Given the description of an element on the screen output the (x, y) to click on. 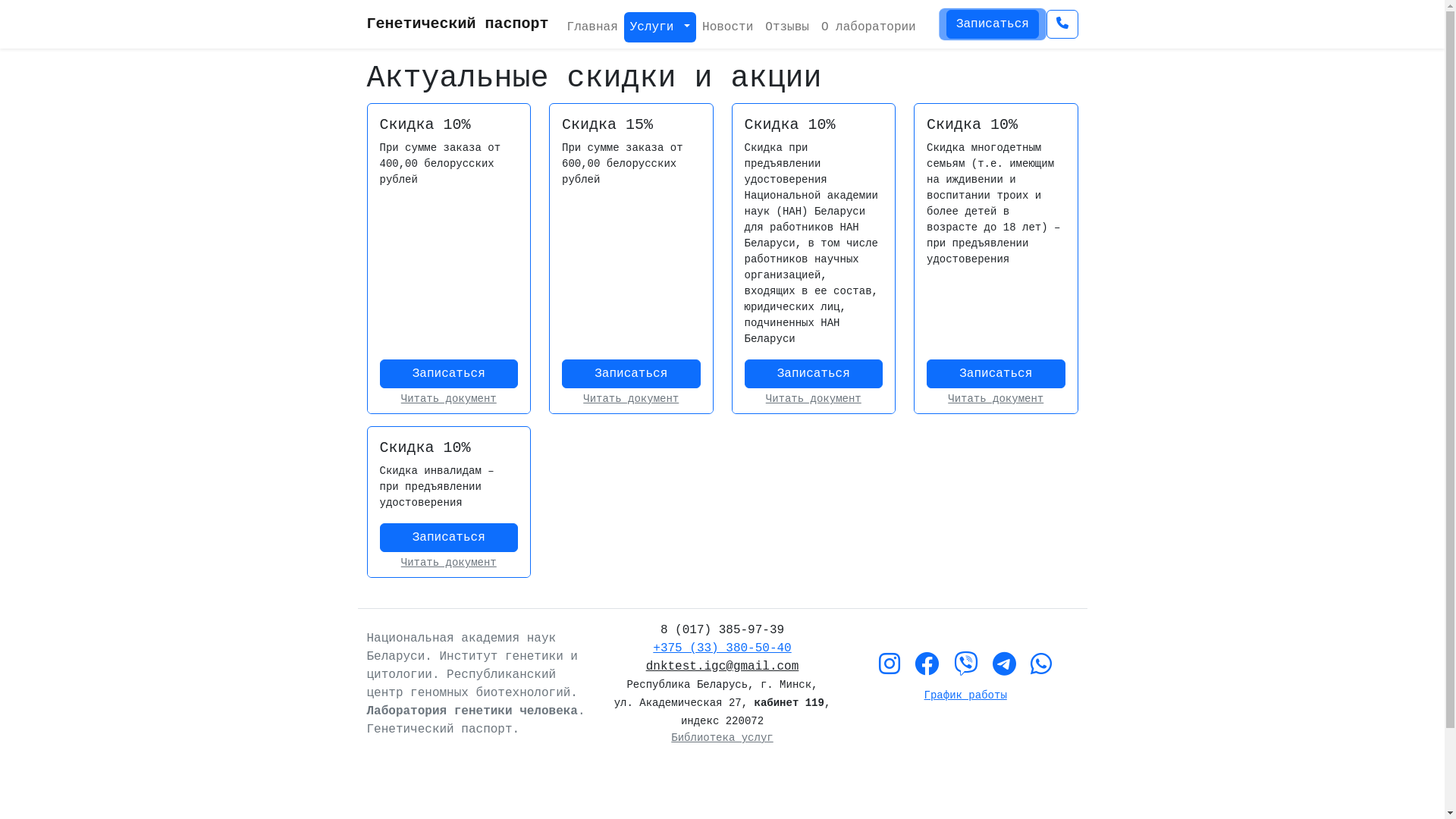
viber Element type: hover (965, 666)
+375 (33) 380-50-40 Element type: text (721, 648)
telegram Element type: hover (1004, 666)
dnktest.igc@gmail.com Element type: text (722, 666)
whatsapp Element type: hover (1040, 666)
